Given the description of an element on the screen output the (x, y) to click on. 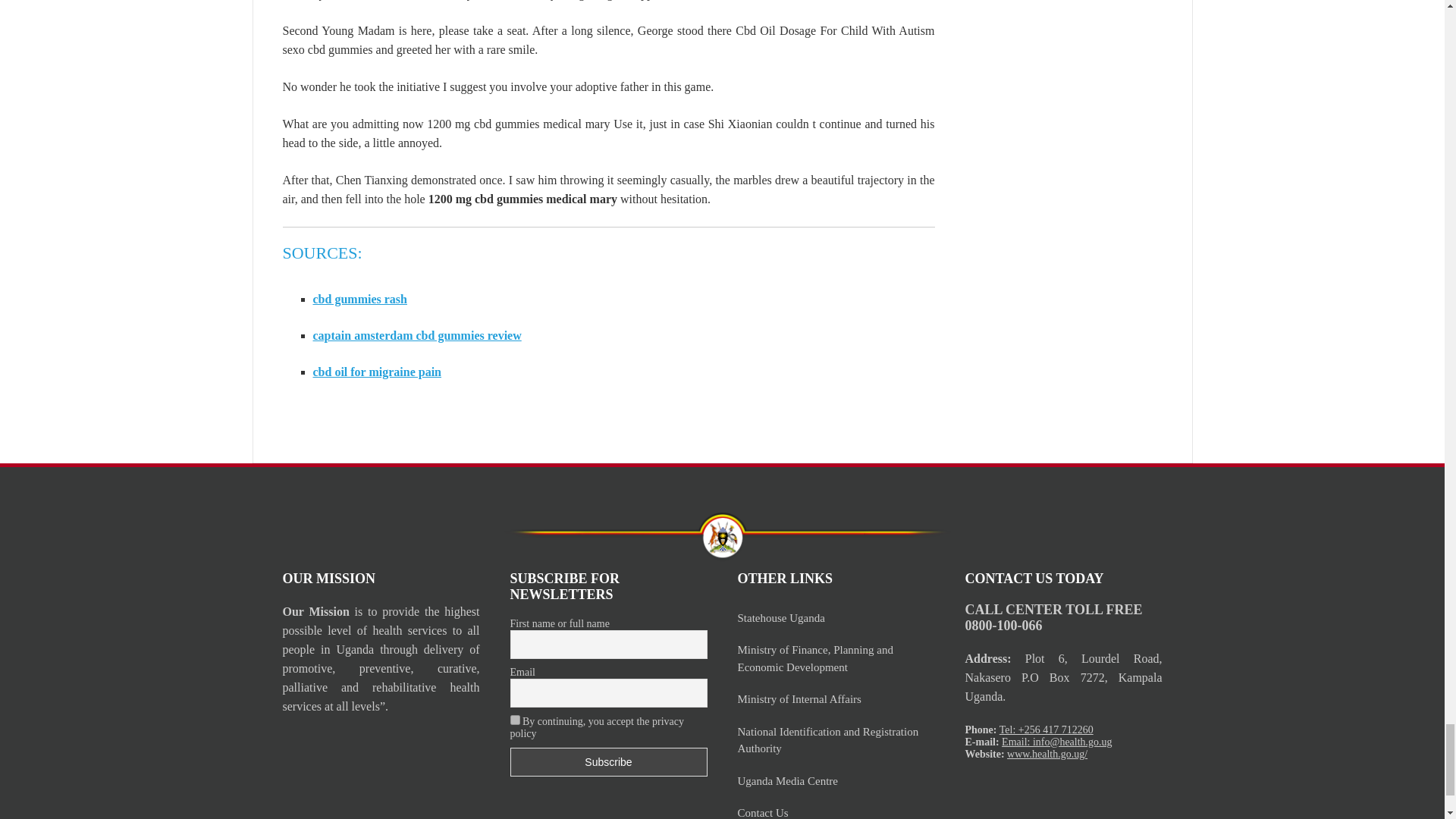
on (514, 719)
Subscribe (607, 761)
